Given the description of an element on the screen output the (x, y) to click on. 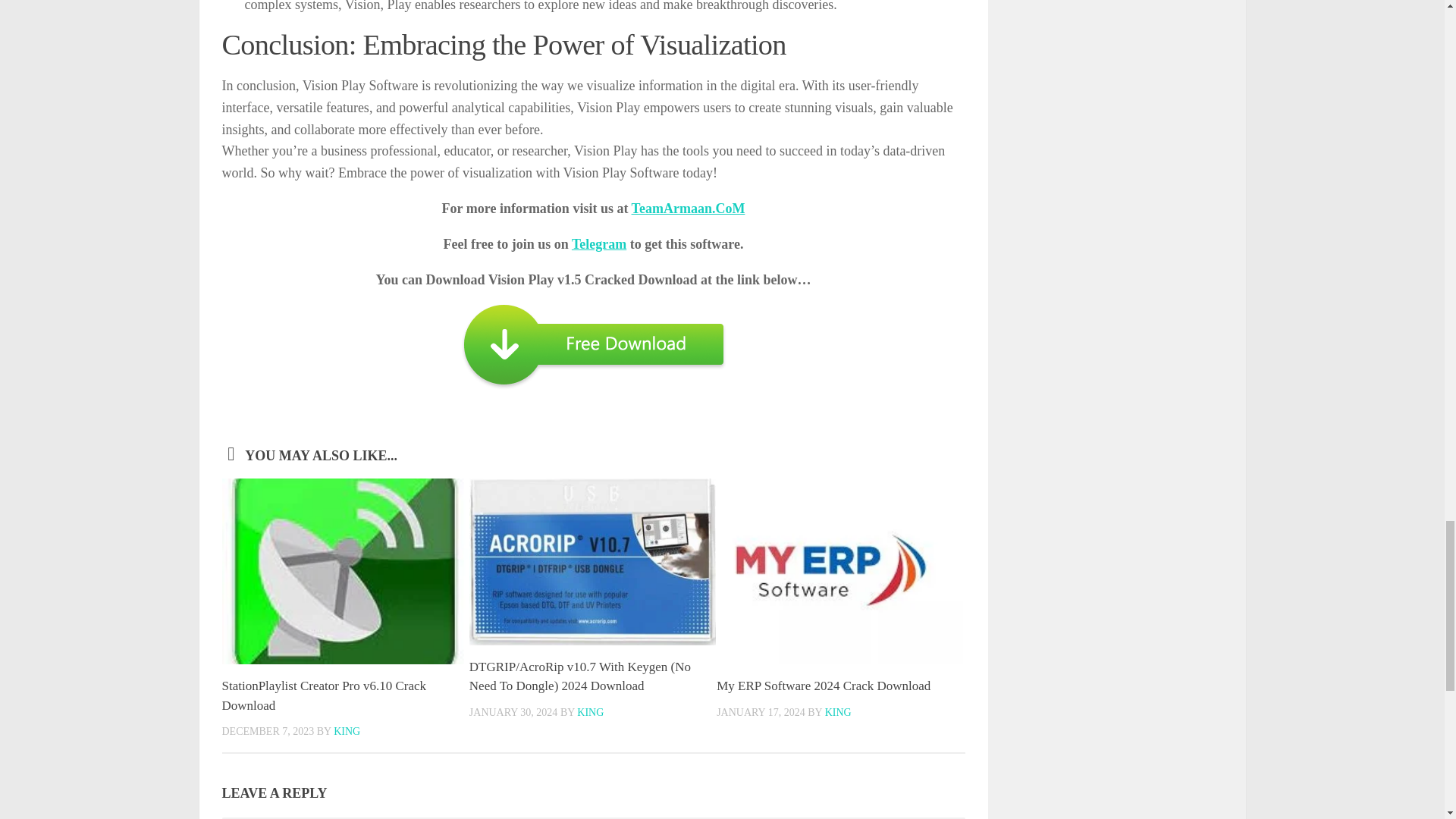
Posts by King (838, 712)
Posts by King (590, 712)
Posts by King (346, 731)
